Given the description of an element on the screen output the (x, y) to click on. 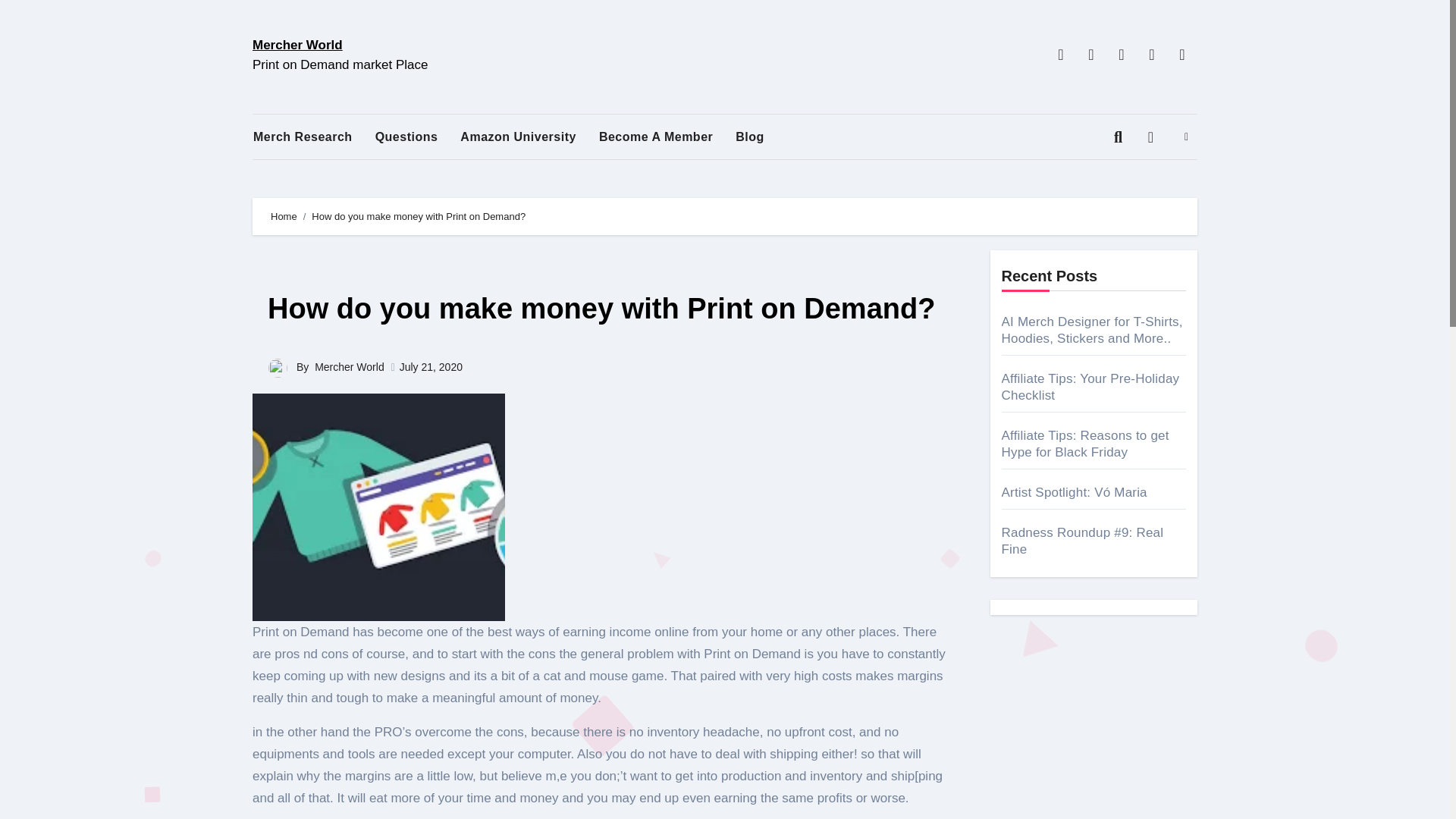
Become A Member (666, 136)
Mercher World (349, 367)
Permalink to: How do you make money with Print on Demand? (600, 308)
Questions (418, 136)
Blog (761, 136)
How do you make money with Print on Demand? (600, 308)
Blog (761, 136)
Amazon University (529, 136)
Questions (418, 136)
Merch Research (314, 136)
Become A Member (666, 136)
July 21, 2020 (430, 367)
Merch Research (314, 136)
Mercher World (296, 44)
Amazon University (529, 136)
